Given the description of an element on the screen output the (x, y) to click on. 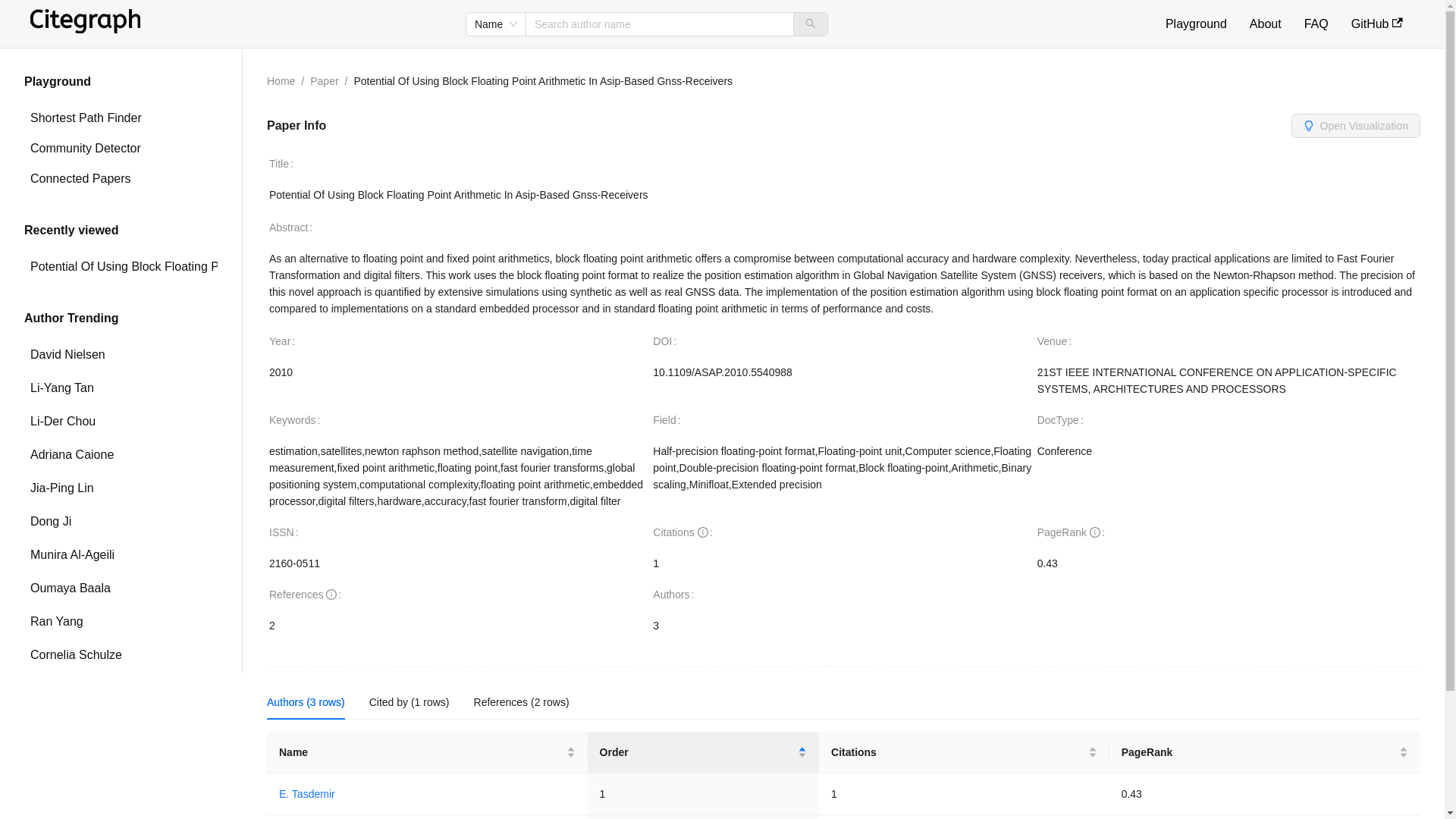
GitHub (1376, 22)
Connected Papers (120, 178)
Oumaya Baala (120, 588)
Open Visualization (1356, 125)
Li-Der Chou (120, 421)
David Nielsen (120, 354)
About (1265, 22)
Playground (1196, 22)
Community Detector (120, 148)
Name (495, 23)
Home (280, 80)
Ran Yang (120, 621)
Open Visualization (1356, 125)
